Given the description of an element on the screen output the (x, y) to click on. 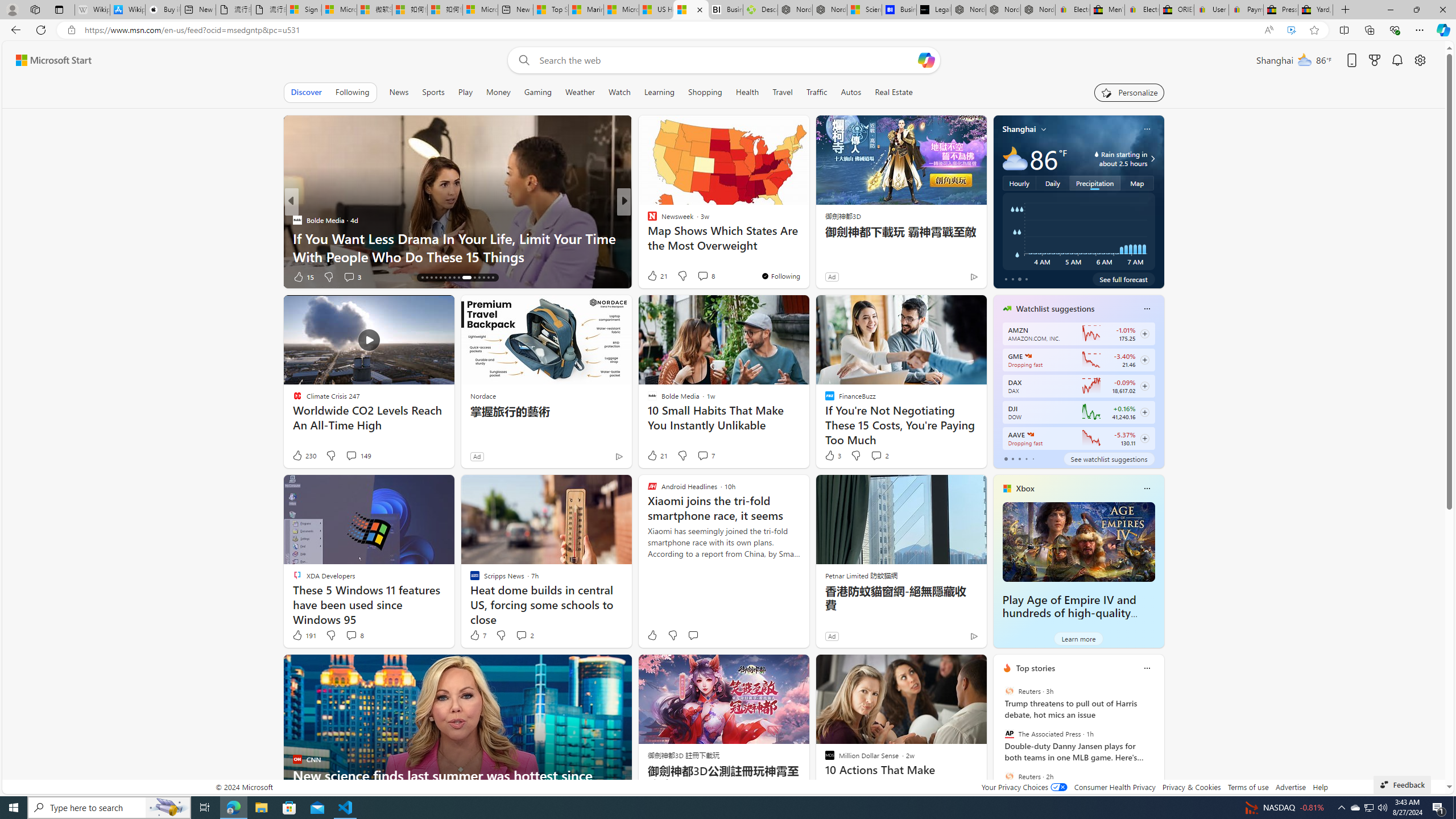
Top stories (1035, 668)
Map (1137, 183)
3 Like (831, 455)
View comments 2 Comment (521, 635)
Buy iPad - Apple (161, 9)
View comments 149 Comment (357, 455)
15 Like (303, 276)
Aave (1029, 434)
View comments 157 Comment (6, 276)
Daily (1052, 183)
Autos (851, 92)
